Given the description of an element on the screen output the (x, y) to click on. 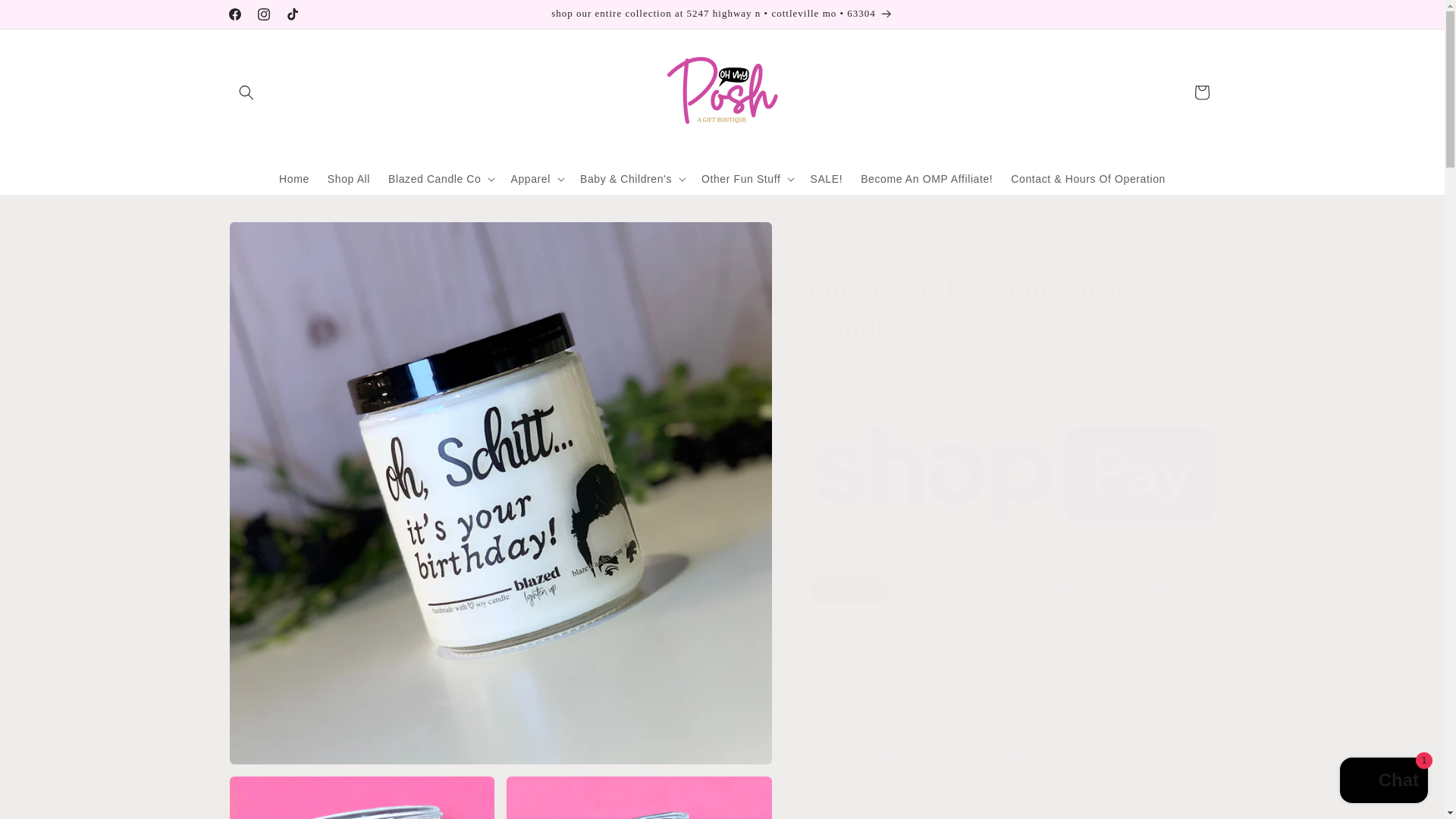
Skip to content (46, 18)
Facebook (233, 14)
